Given the description of an element on the screen output the (x, y) to click on. 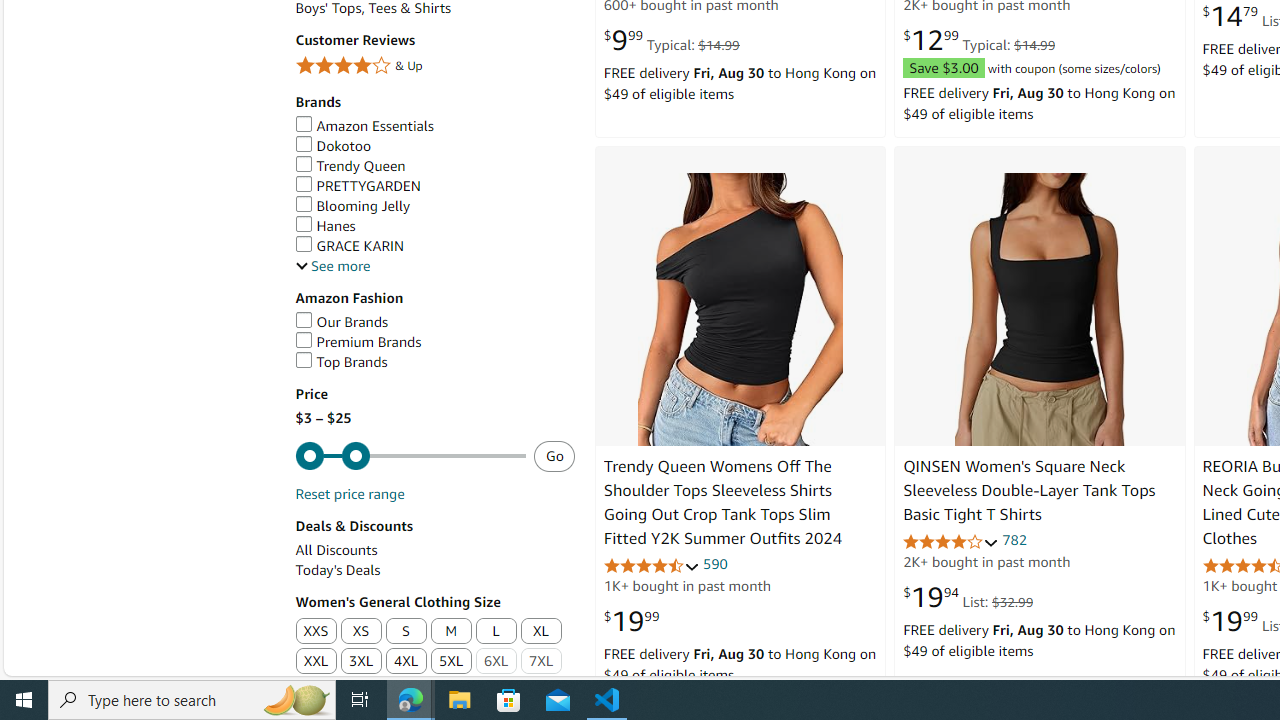
Trendy Queen (434, 165)
$9.99 Typical: $14.99 (670, 40)
XXL (315, 661)
Dokotoo (434, 146)
M (451, 632)
XL (540, 631)
XL (540, 632)
L (496, 632)
Blooming Jelly (434, 206)
XL (541, 632)
Boys' Tops, Tees & Shirts (434, 8)
Top Brands (340, 362)
5XL (451, 662)
3XL (362, 662)
